Given the description of an element on the screen output the (x, y) to click on. 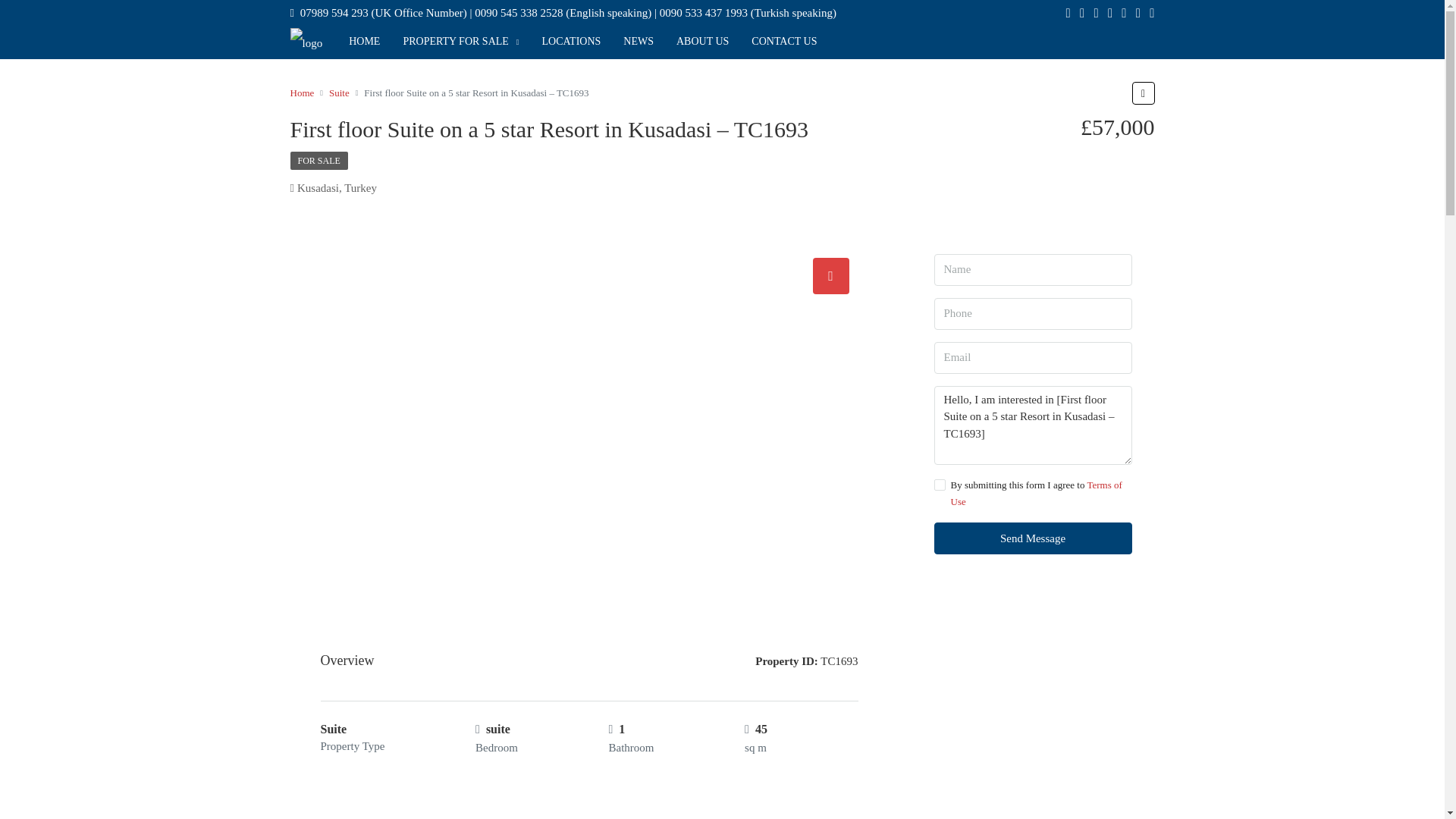
ABOUT US (702, 41)
LOCATIONS (571, 41)
NEWS (638, 41)
Suite (339, 93)
HOME (364, 41)
PROPERTY FOR SALE (460, 41)
CONTACT US (783, 41)
FOR SALE (318, 160)
Home (301, 93)
